Given the description of an element on the screen output the (x, y) to click on. 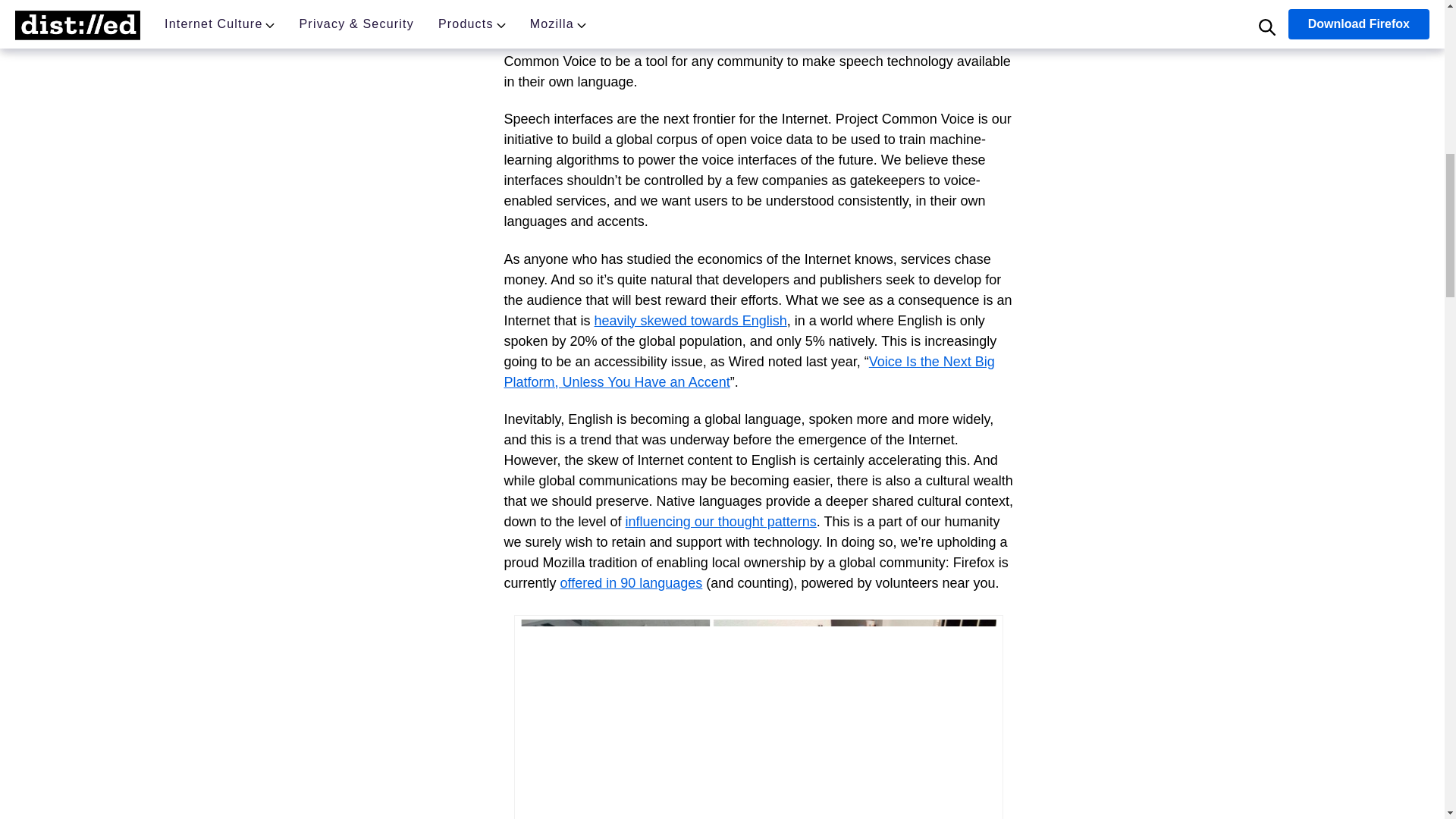
heavily skewed towards English (690, 320)
offered in 90 languages (631, 582)
influencing our thought patterns (721, 521)
the next phase of the Common Voice project. (855, 3)
Voice Is the Next Big Platform, Unless You Have an Accent (748, 371)
